Given the description of an element on the screen output the (x, y) to click on. 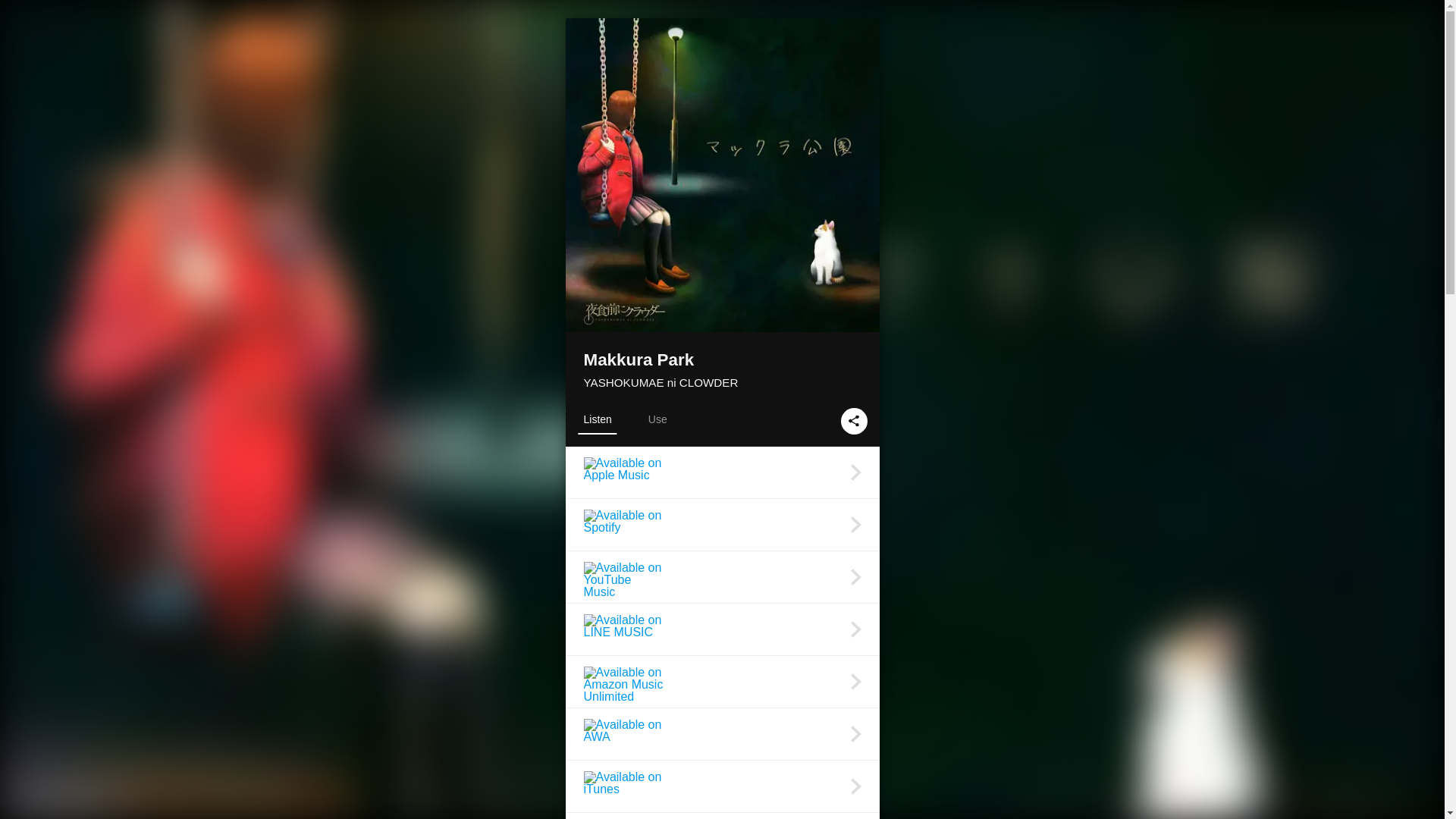
Available on YouTube Music (722, 576)
Available on AWA (722, 734)
Available on Amazon Music (722, 816)
Available on Amazon Music Unlimited (722, 681)
YASHOKUMAE ni CLOWDER (660, 382)
YASHOKUMAE ni CLOWDER (660, 382)
Makkura Park (722, 360)
Available on LINE MUSIC (722, 629)
Available on Apple Music (722, 471)
Available on iTunes (722, 786)
